Given the description of an element on the screen output the (x, y) to click on. 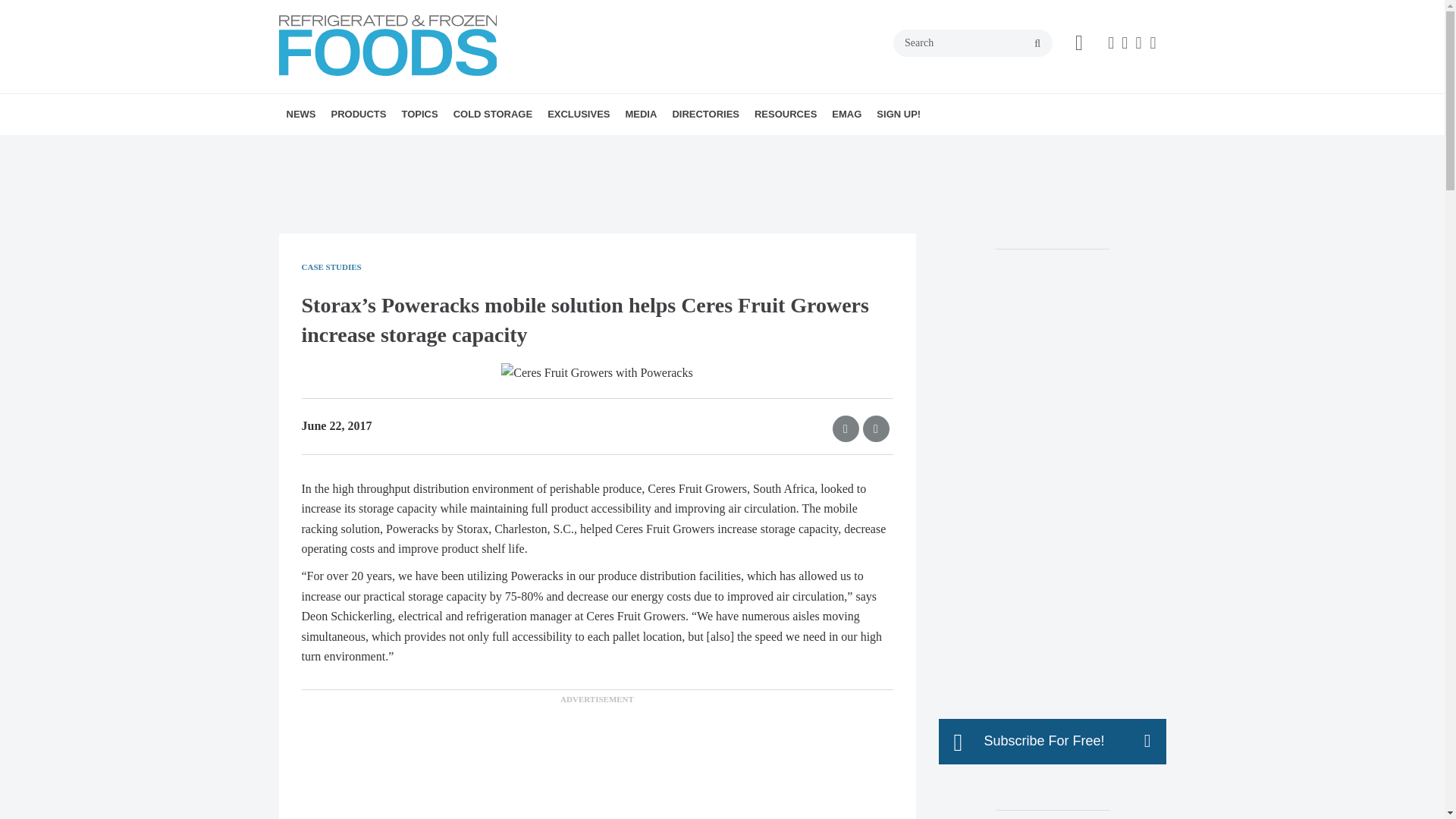
NEW RETAIL PRODUCTS (417, 147)
TOPICS (419, 114)
FARM TO FROZEN (547, 147)
EXCLUSIVES (578, 114)
FEATURED PRODUCTS (424, 147)
CASE STUDIES (488, 147)
INDUSTRY NEWS (373, 147)
PROCESSOR OF THE YEAR (634, 147)
MEDIA (640, 114)
TOP 150 FROZEN FOOD PROCESSORS (651, 156)
